Given the description of an element on the screen output the (x, y) to click on. 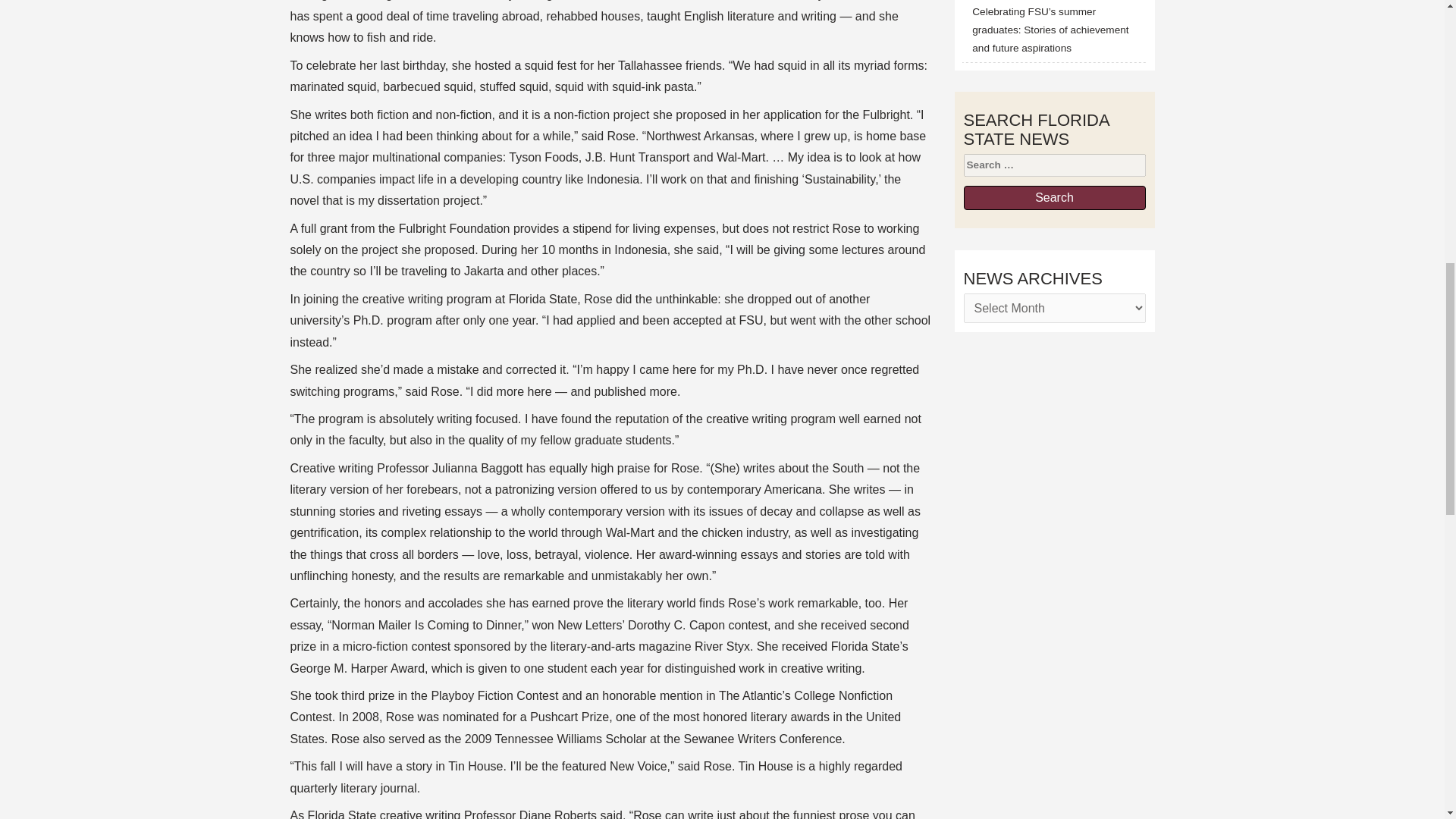
Search (1053, 197)
